Given the description of an element on the screen output the (x, y) to click on. 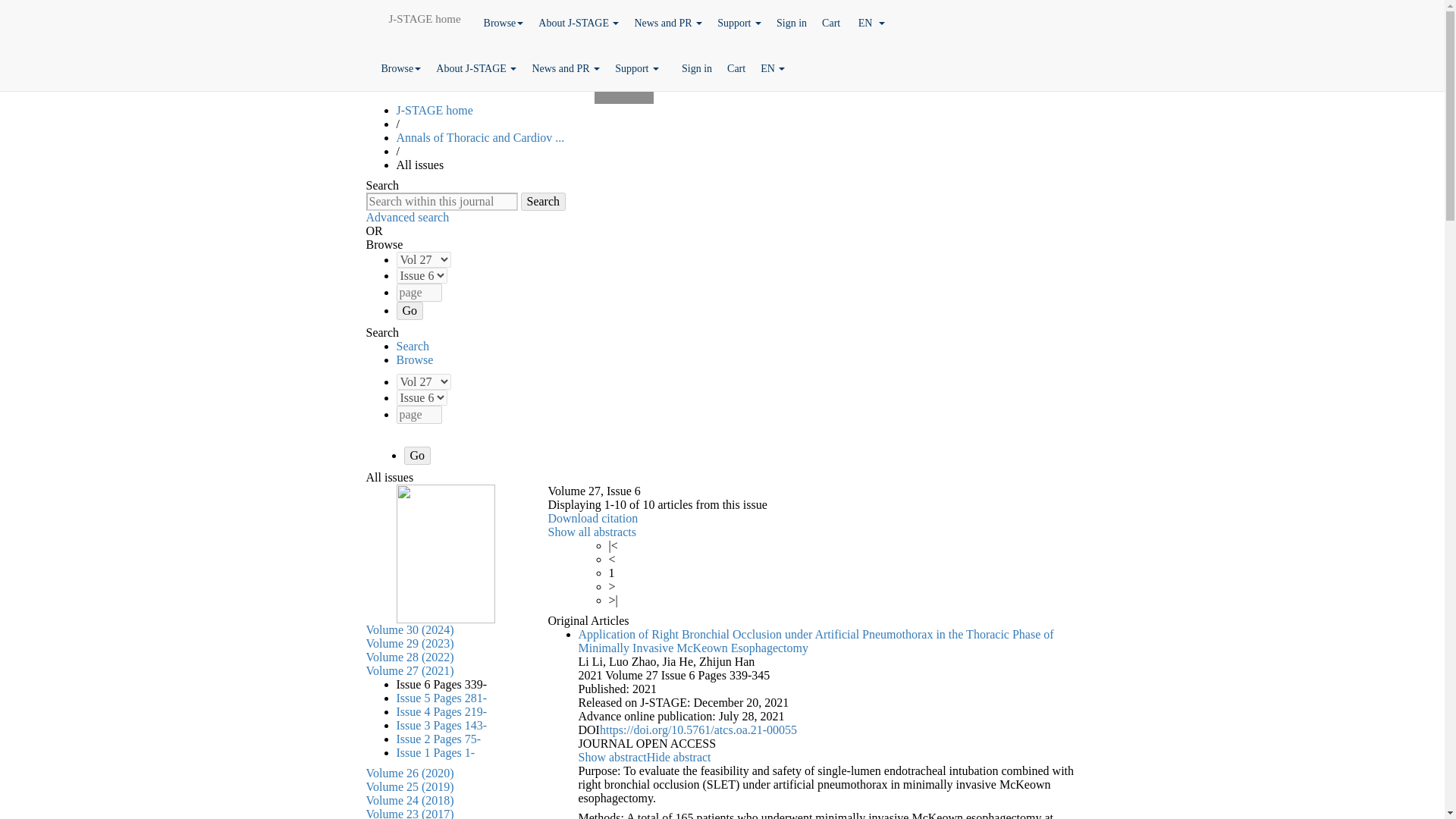
News and PR (668, 22)
About J-STAGE (476, 67)
Go (416, 454)
Search (542, 201)
Annals of Thoracic and Cardiovascular Surgery (480, 137)
Browse (400, 67)
Search (542, 201)
Browse (503, 22)
Go (409, 311)
Search (542, 201)
EN (871, 22)
About J-STAGE (578, 22)
Support (739, 22)
Sign in (790, 22)
J-STAGE home (423, 18)
